Given the description of an element on the screen output the (x, y) to click on. 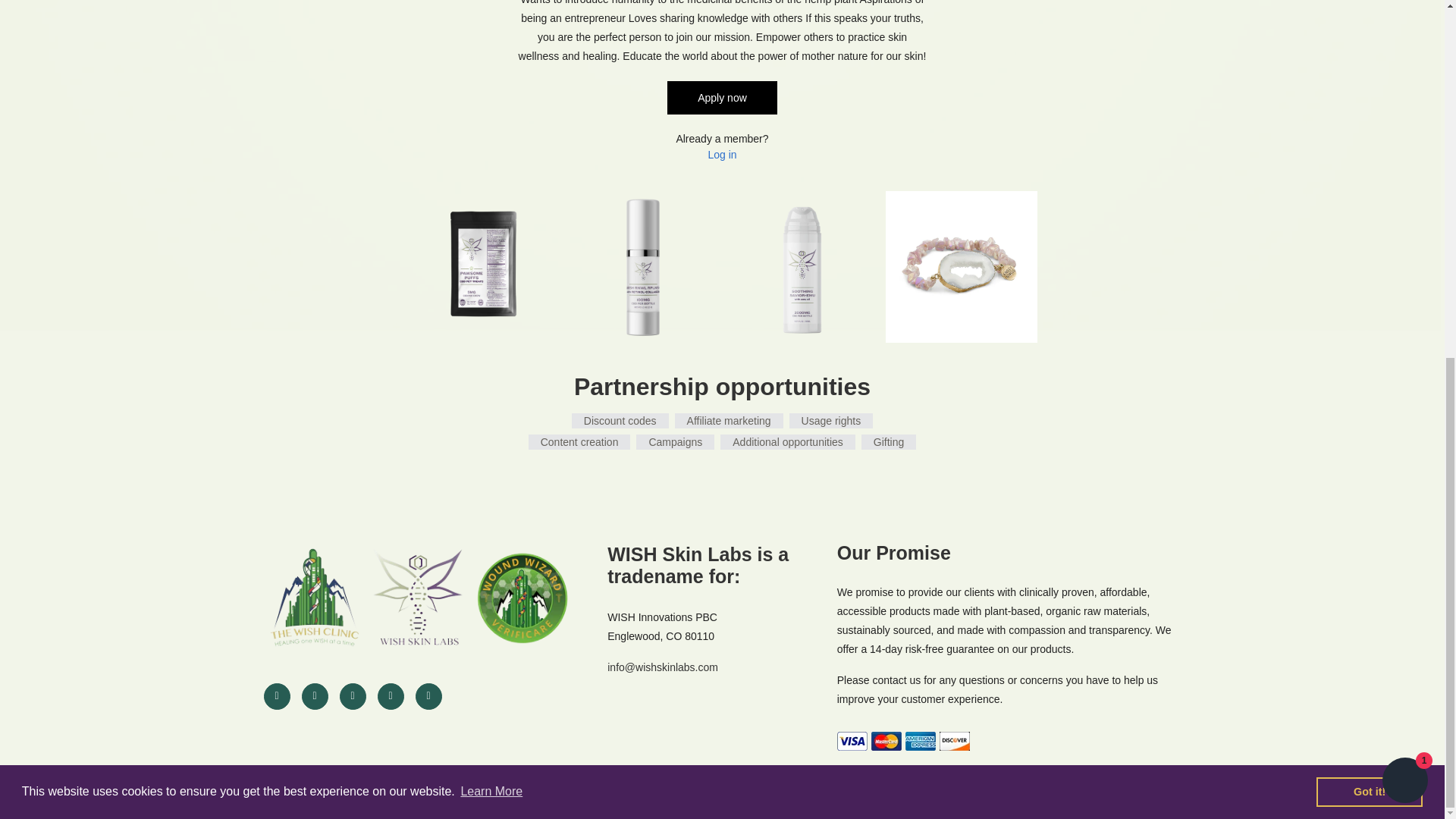
Shopify online store chat (1404, 151)
Learn More (491, 160)
Got it! (1369, 160)
